Given the description of an element on the screen output the (x, y) to click on. 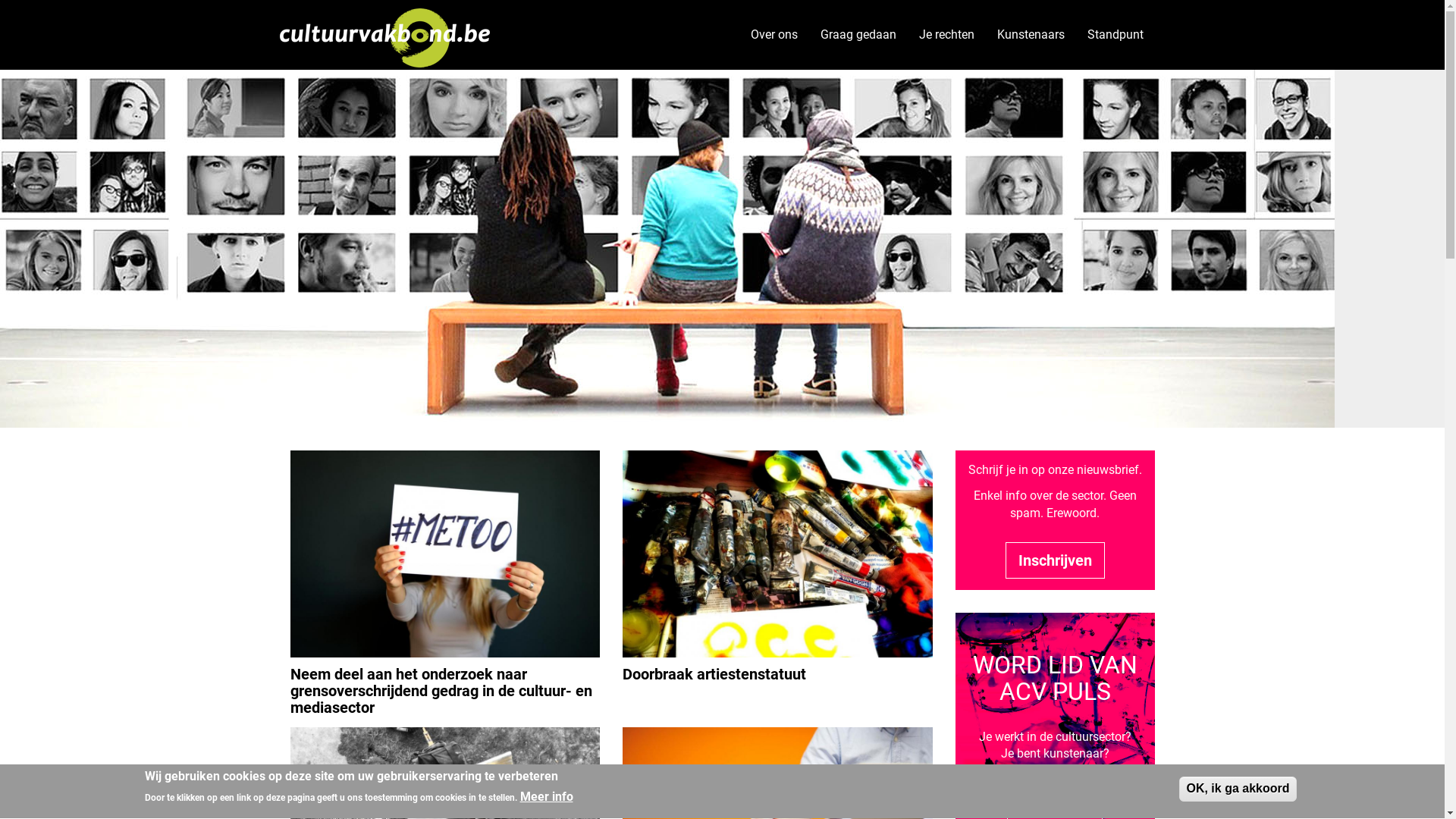
Meer info Element type: text (546, 797)
Standpunt Element type: text (1114, 34)
Je rechten Element type: text (945, 34)
Home Element type: hover (390, 34)
Inschrijven Element type: text (1054, 560)
Graag gedaan Element type: text (857, 34)
Overslaan en naar de inhoud gaan Element type: text (0, 0)
OK, ik ga akkoord Element type: text (1237, 788)
Kunstenaars Element type: text (1030, 34)
Over ons Element type: text (773, 34)
Doorbraak artiestenstatuut Element type: text (714, 673)
